Given the description of an element on the screen output the (x, y) to click on. 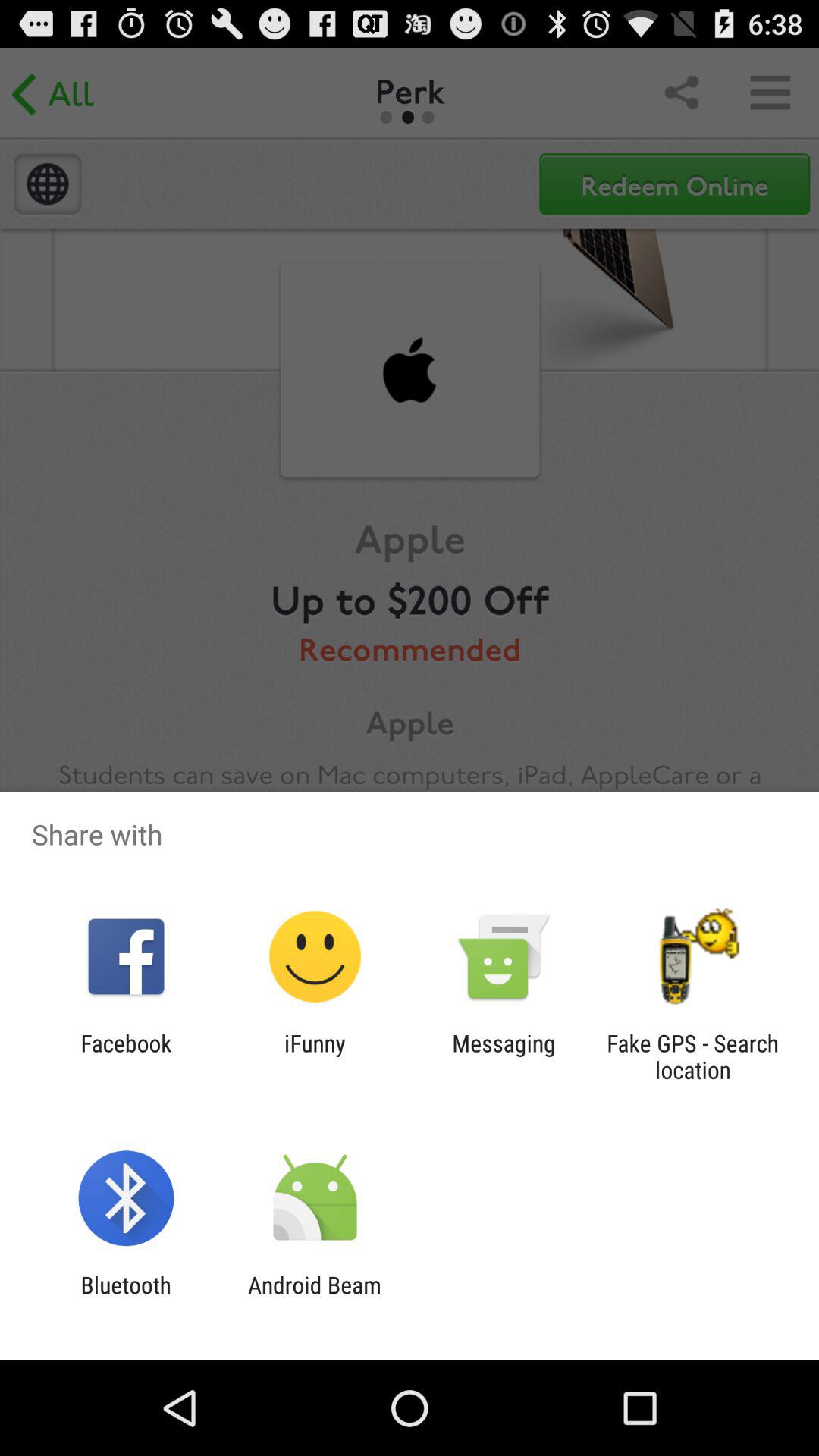
choose the app next to the ifunny (503, 1056)
